Given the description of an element on the screen output the (x, y) to click on. 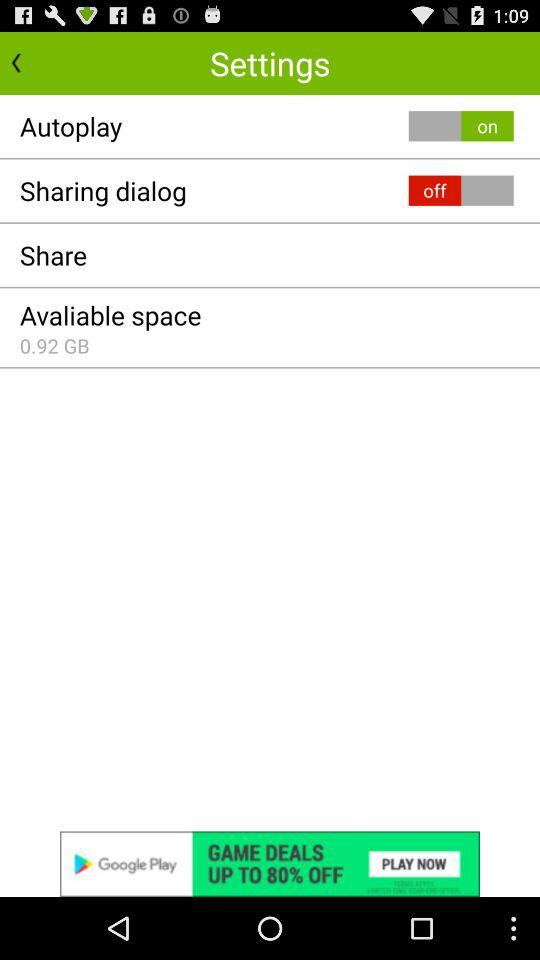
see advertisement (270, 864)
